Given the description of an element on the screen output the (x, y) to click on. 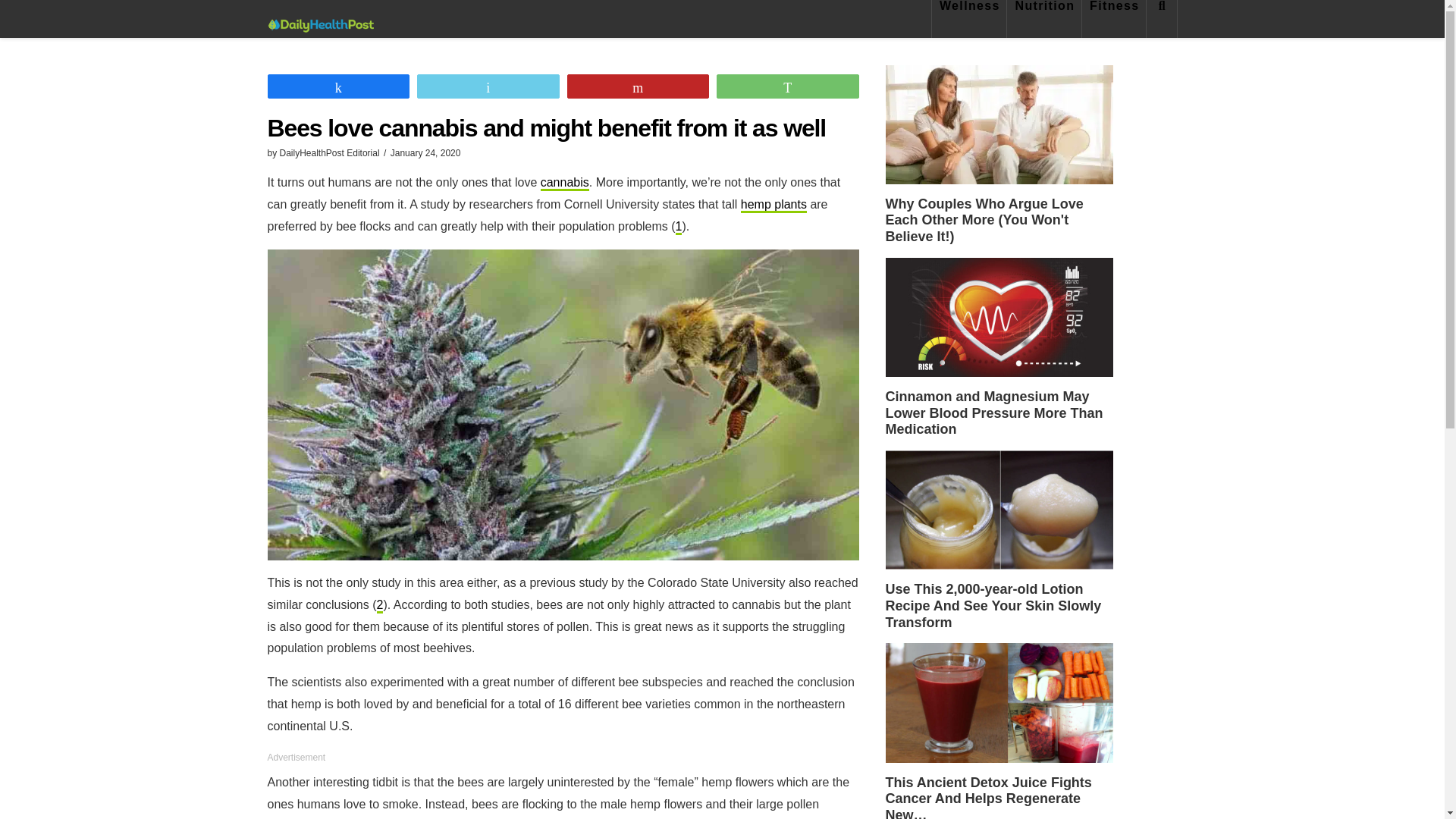
cannabis (564, 183)
Fitness (1114, 18)
Wellness (969, 18)
hemp plants (773, 205)
Nutrition (1044, 18)
